Given the description of an element on the screen output the (x, y) to click on. 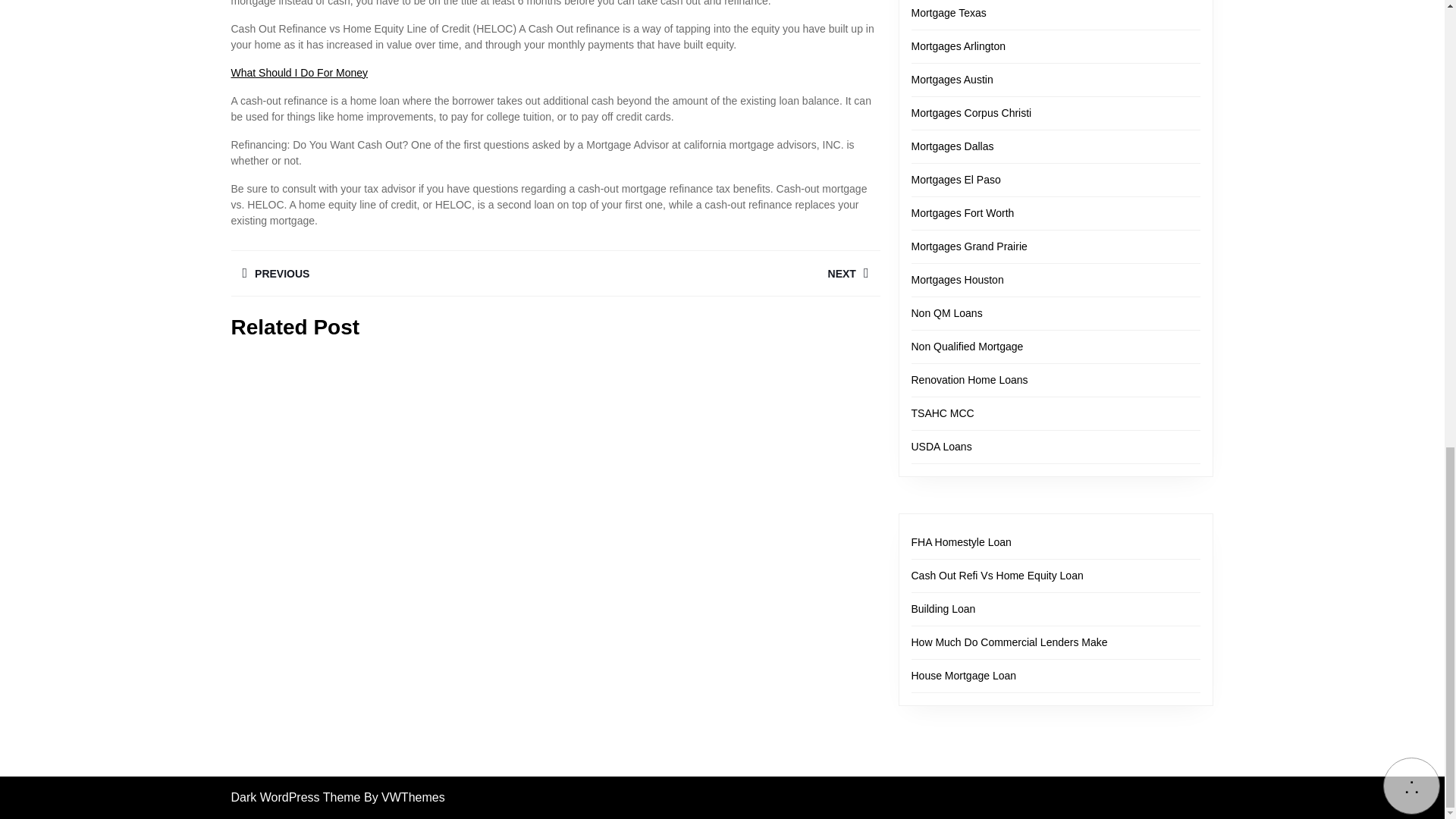
What Should I Do For Money (299, 72)
